Given the description of an element on the screen output the (x, y) to click on. 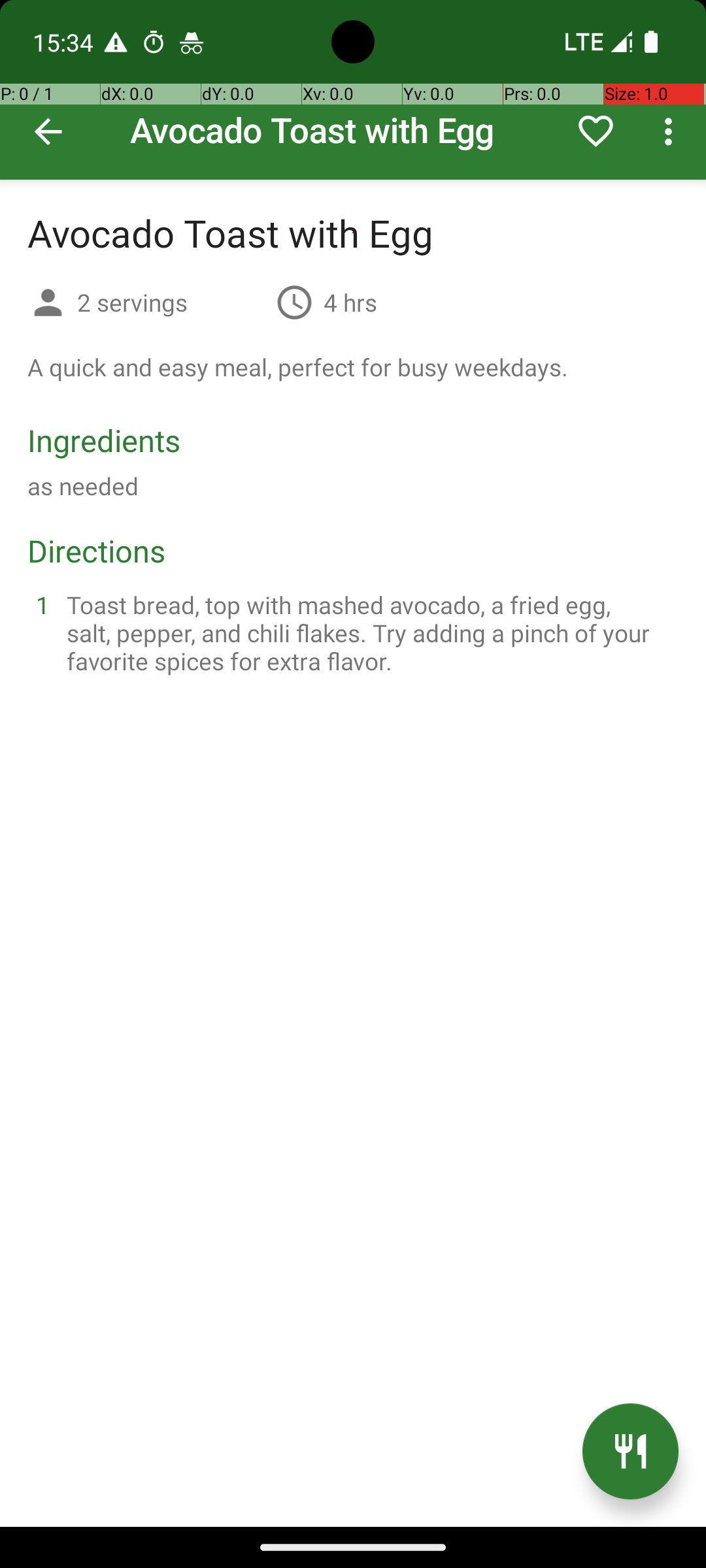
2 servings Element type: android.widget.TextView (170, 301)
4 hrs Element type: android.widget.TextView (350, 301)
as needed Element type: android.widget.TextView (82, 485)
Toast bread, top with mashed avocado, a fried egg, salt, pepper, and chili flakes. Try adding a pinch of your favorite spices for extra flavor. Element type: android.widget.TextView (368, 632)
